Given the description of an element on the screen output the (x, y) to click on. 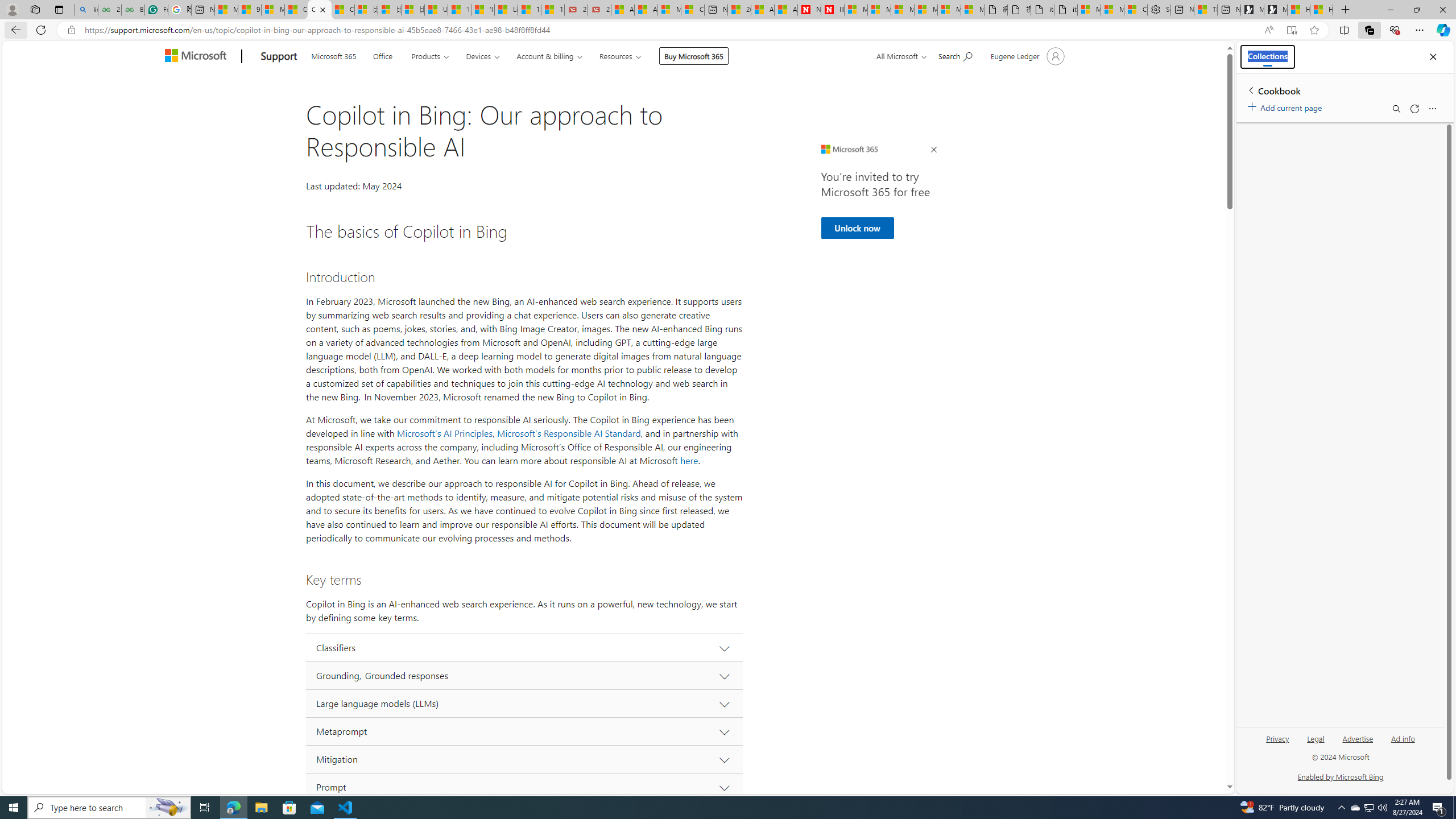
Microsoft Start Gaming (1275, 9)
Microsoft Services Agreement (879, 9)
Consumer Health Data Privacy Policy (1135, 9)
